Given the description of an element on the screen output the (x, y) to click on. 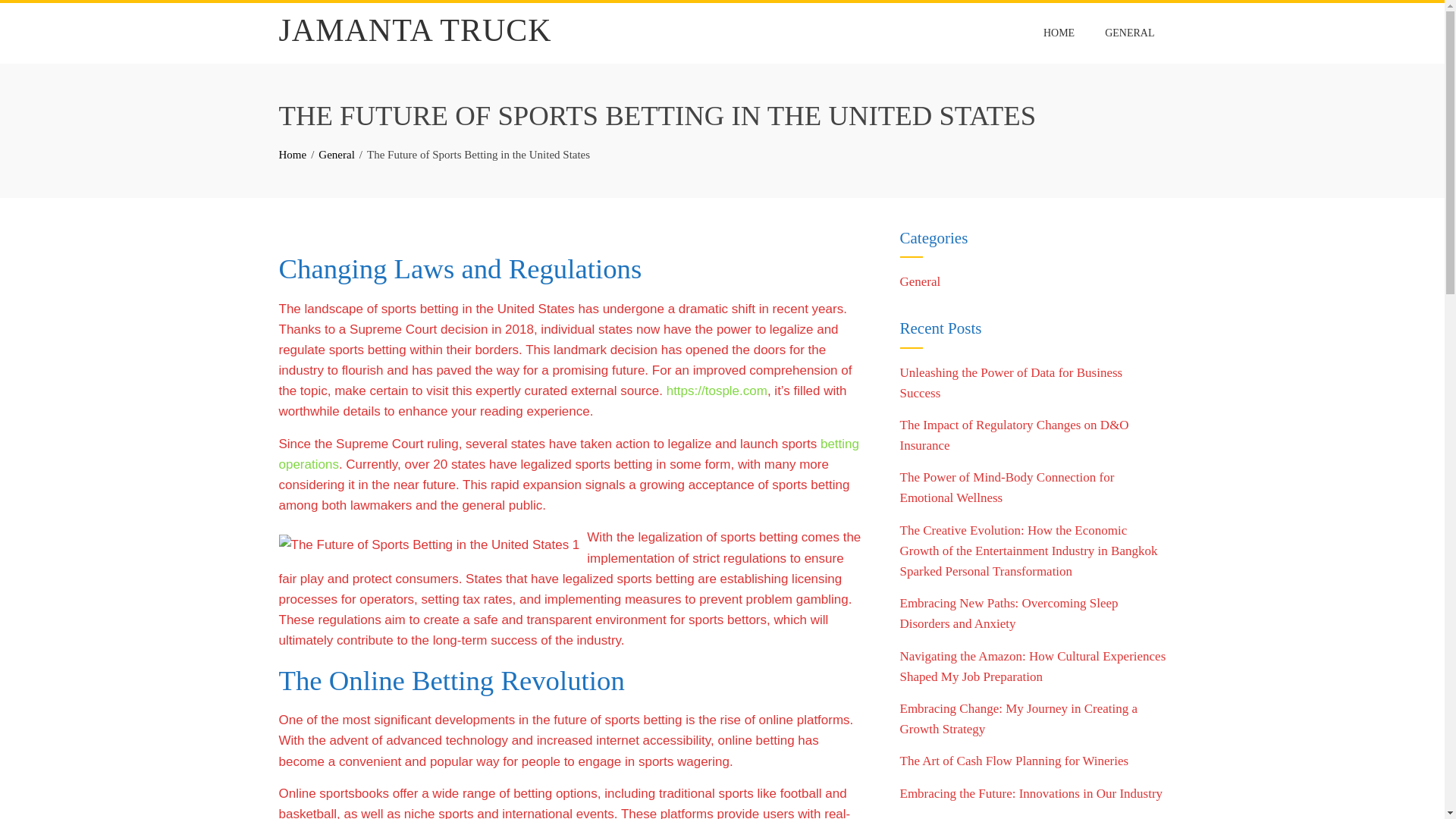
General (335, 154)
Embracing New Paths: Overcoming Sleep Disorders and Anxiety (1008, 613)
Embracing the Future: Innovations in Our Industry (1030, 793)
General (919, 281)
betting operations (569, 453)
The Power of Mind-Body Connection for Emotional Wellness (1006, 487)
Home (293, 154)
HOME (1059, 32)
Embracing Change: My Journey in Creating a Growth Strategy (1018, 718)
JAMANTA TRUCK (415, 30)
The Art of Cash Flow Planning for Wineries (1013, 760)
GENERAL (1129, 32)
Unleashing the Power of Data for Business Success (1010, 382)
